Given the description of an element on the screen output the (x, y) to click on. 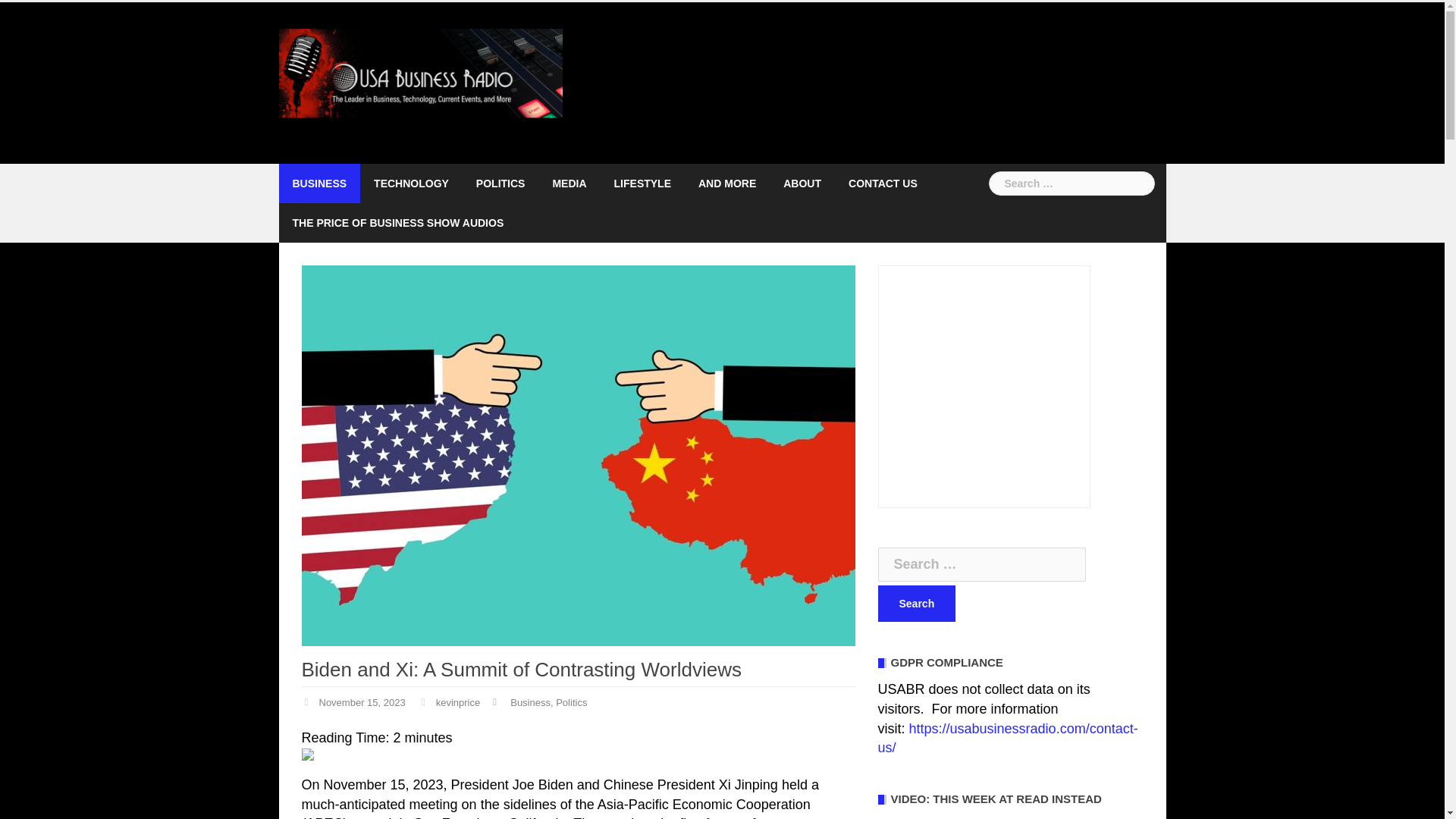
Search (916, 603)
Politics (571, 703)
November 15, 2023 (361, 703)
LIFESTYLE (642, 183)
Business (530, 703)
AND MORE (726, 183)
ABOUT (802, 183)
USA Business Radio (421, 81)
THE PRICE OF BUSINESS SHOW AUDIOS (397, 222)
Search (39, 18)
